Given the description of an element on the screen output the (x, y) to click on. 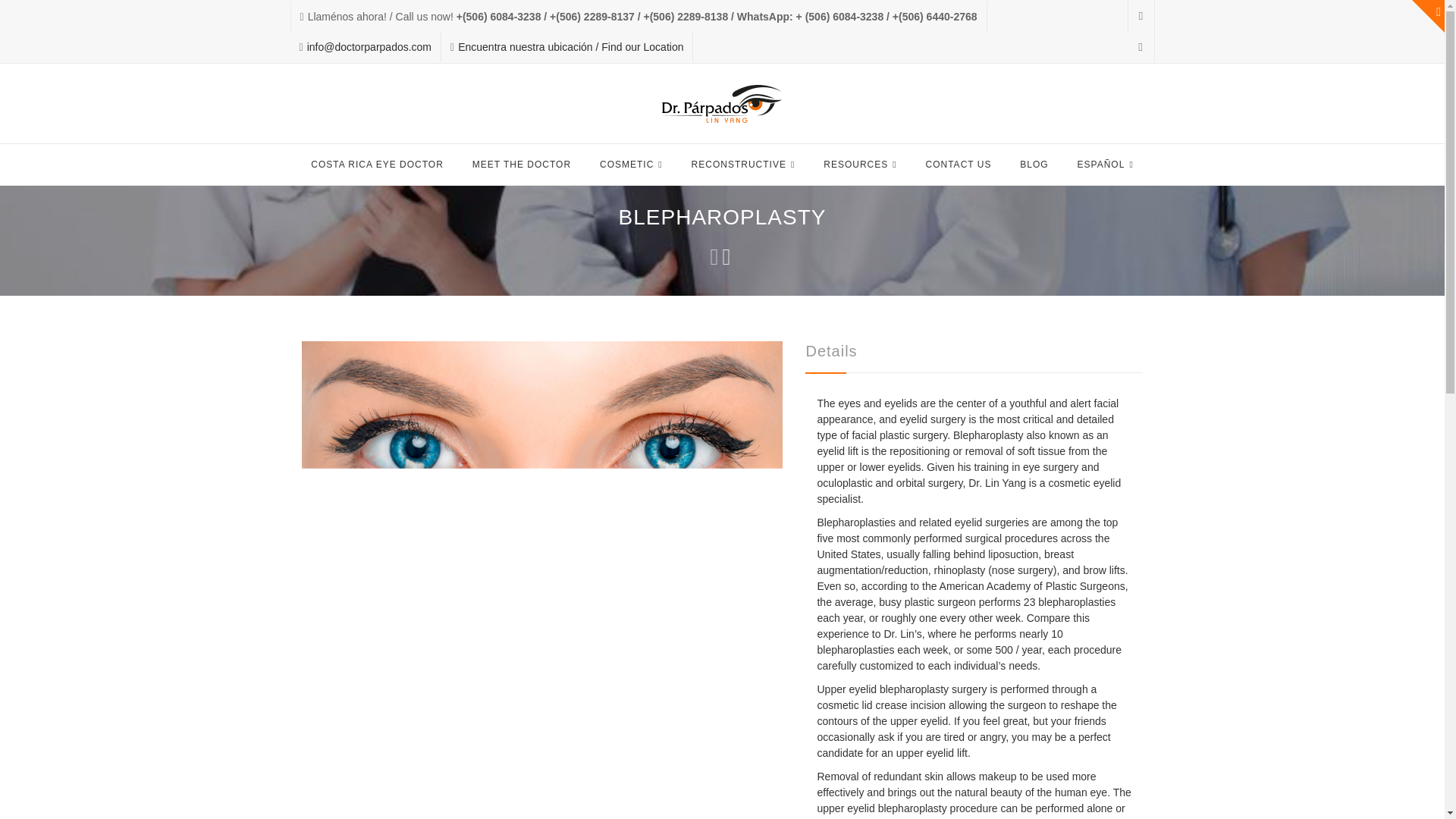
COSTA RICA EYE DOCTOR (377, 164)
COSMETIC (630, 164)
RECONSTRUCTIVE (743, 164)
MEET THE DOCTOR (521, 164)
RESOURCES (859, 164)
